Given the description of an element on the screen output the (x, y) to click on. 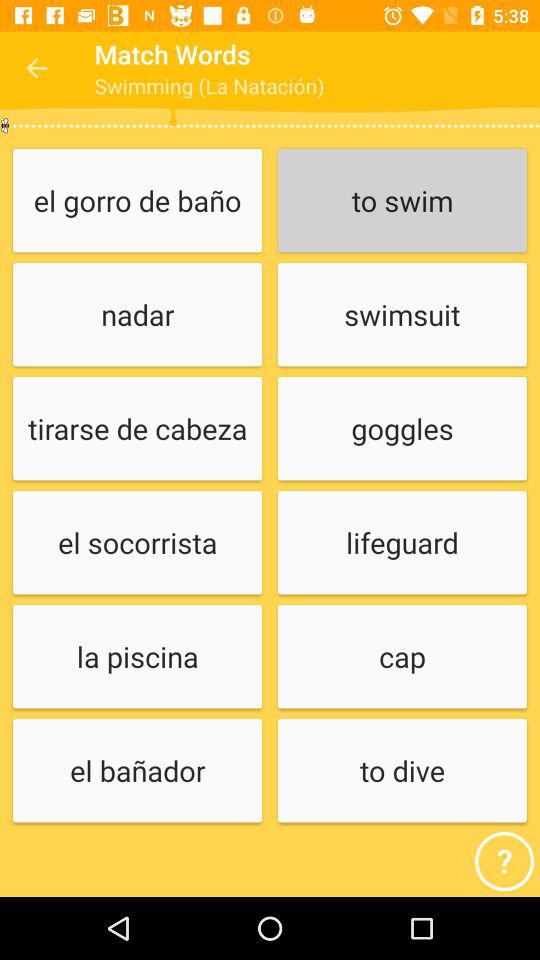
turn on nadar icon (137, 315)
